Given the description of an element on the screen output the (x, y) to click on. 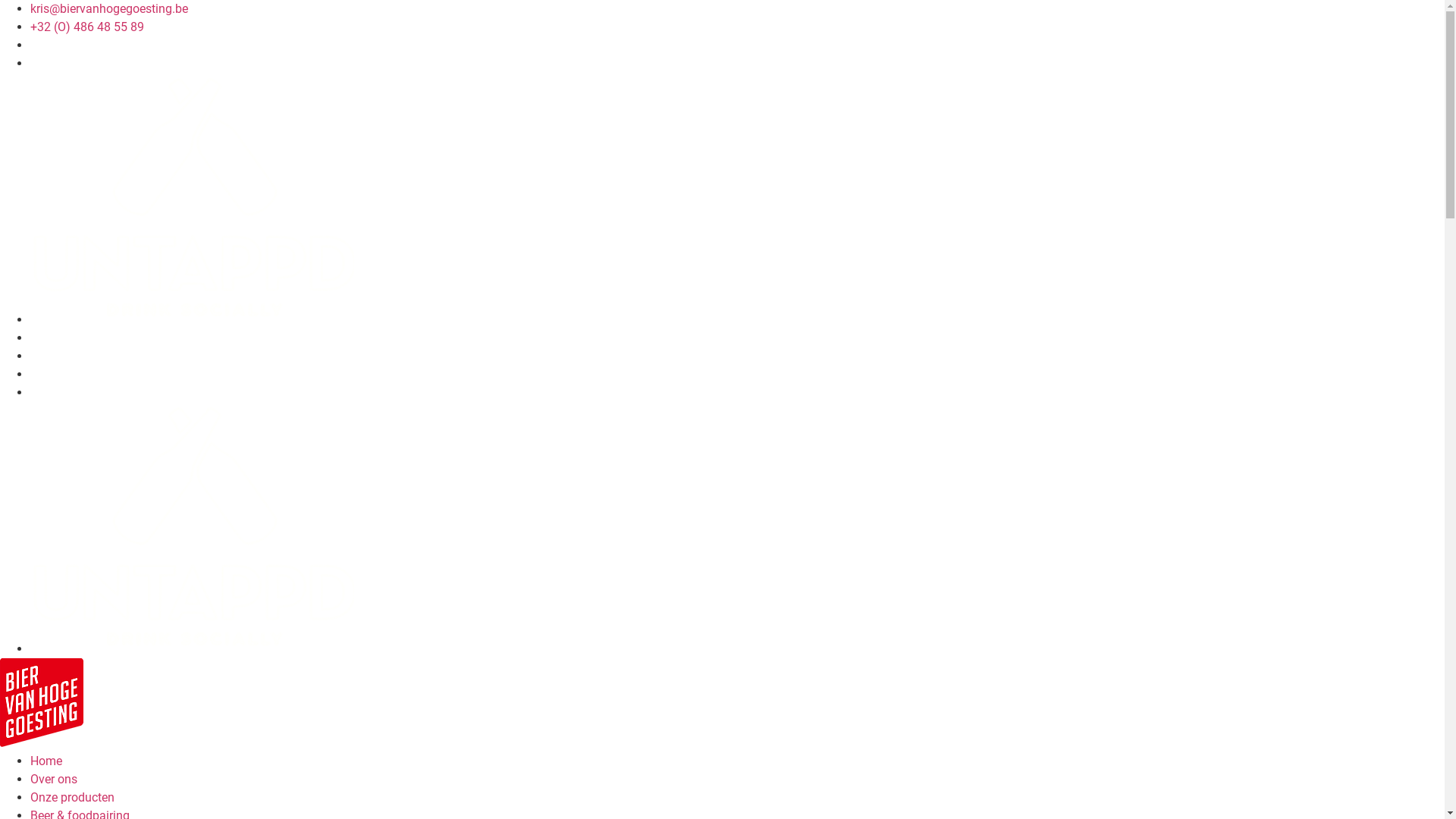
Onze producten Element type: text (72, 797)
Home Element type: text (46, 760)
kris@biervanhogegoesting.be Element type: text (109, 8)
+32 (O) 486 48 55 89 Element type: text (87, 26)
Over ons Element type: text (53, 778)
